Given the description of an element on the screen output the (x, y) to click on. 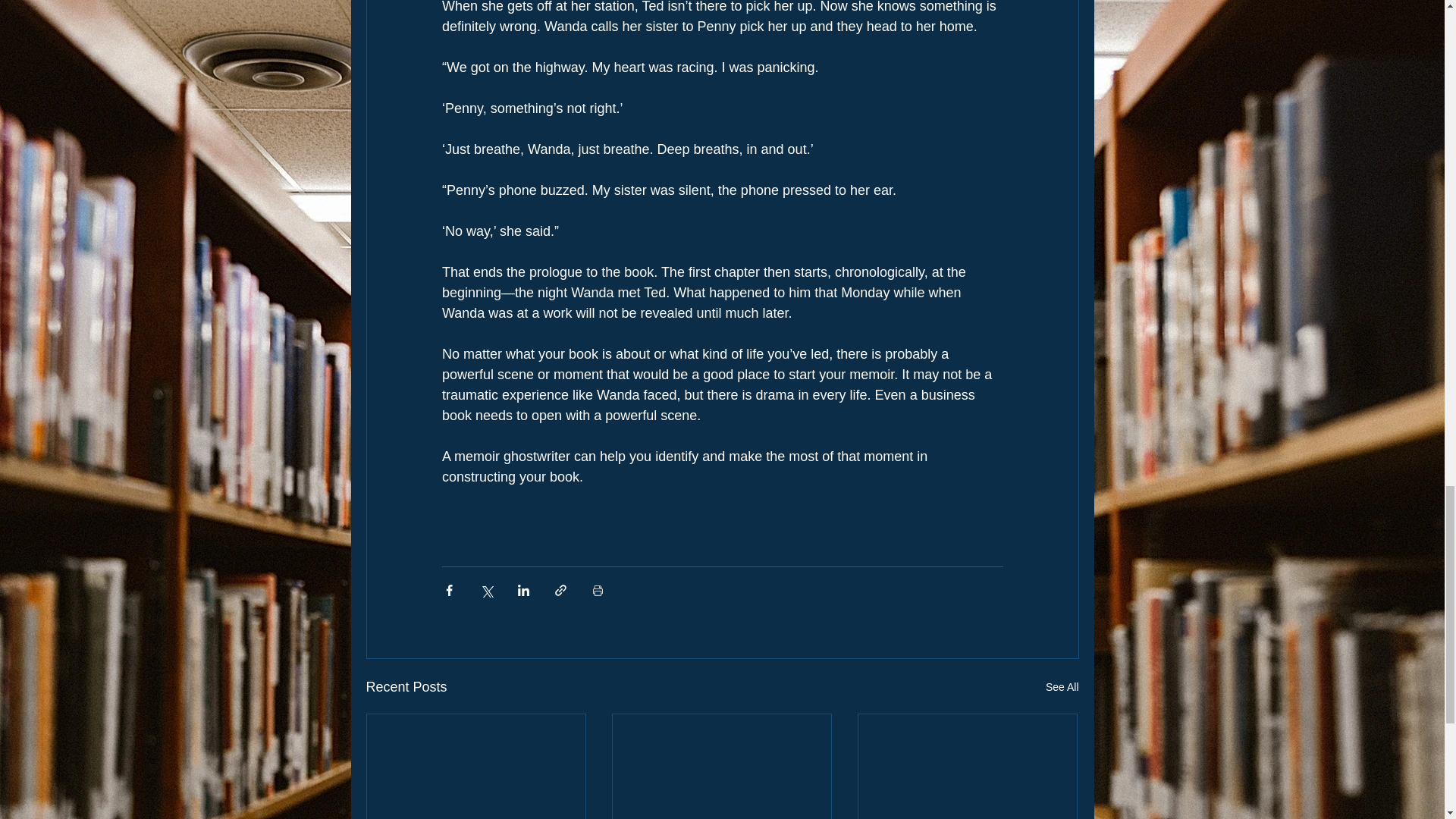
See All (1061, 687)
